Given the description of an element on the screen output the (x, y) to click on. 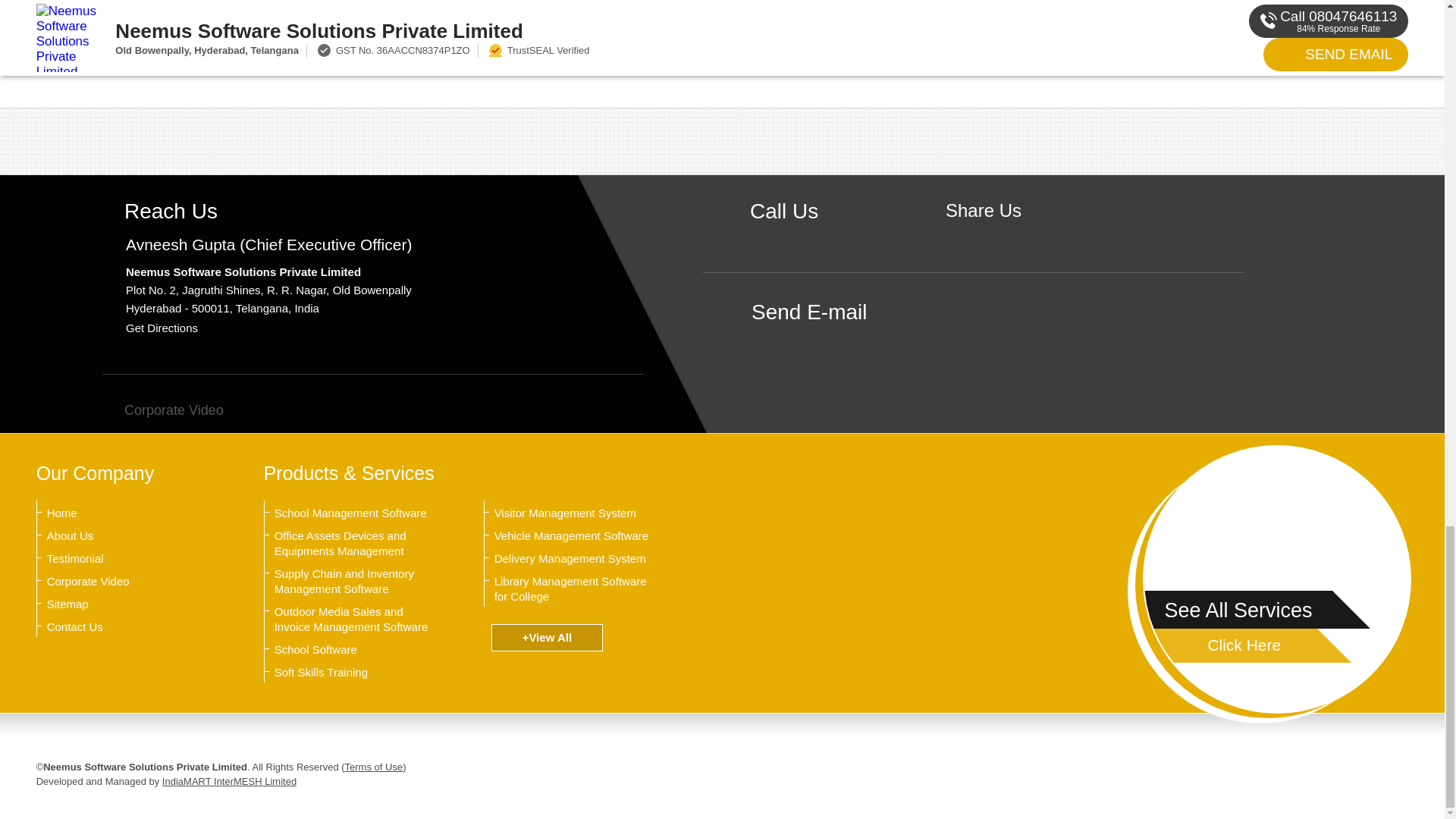
Get Directions (161, 327)
